Given the description of an element on the screen output the (x, y) to click on. 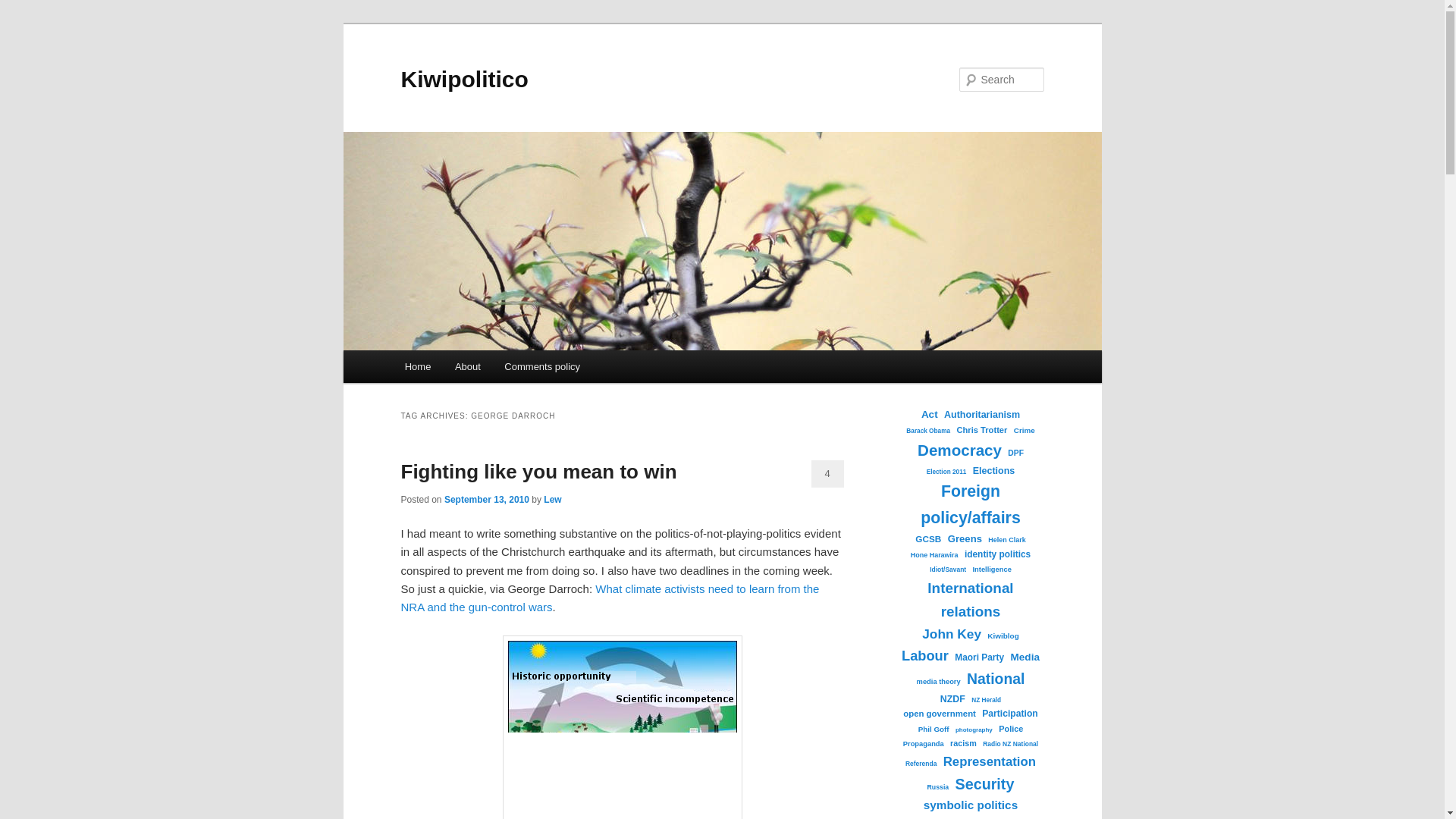
07:05 (486, 499)
September 13, 2010 (486, 499)
About (467, 366)
Fighting like you mean to win (538, 471)
4 (827, 473)
View all posts by Lew (551, 499)
fail (621, 727)
Comments policy (542, 366)
Lew (551, 499)
Kiwipolitico (463, 78)
